Given the description of an element on the screen output the (x, y) to click on. 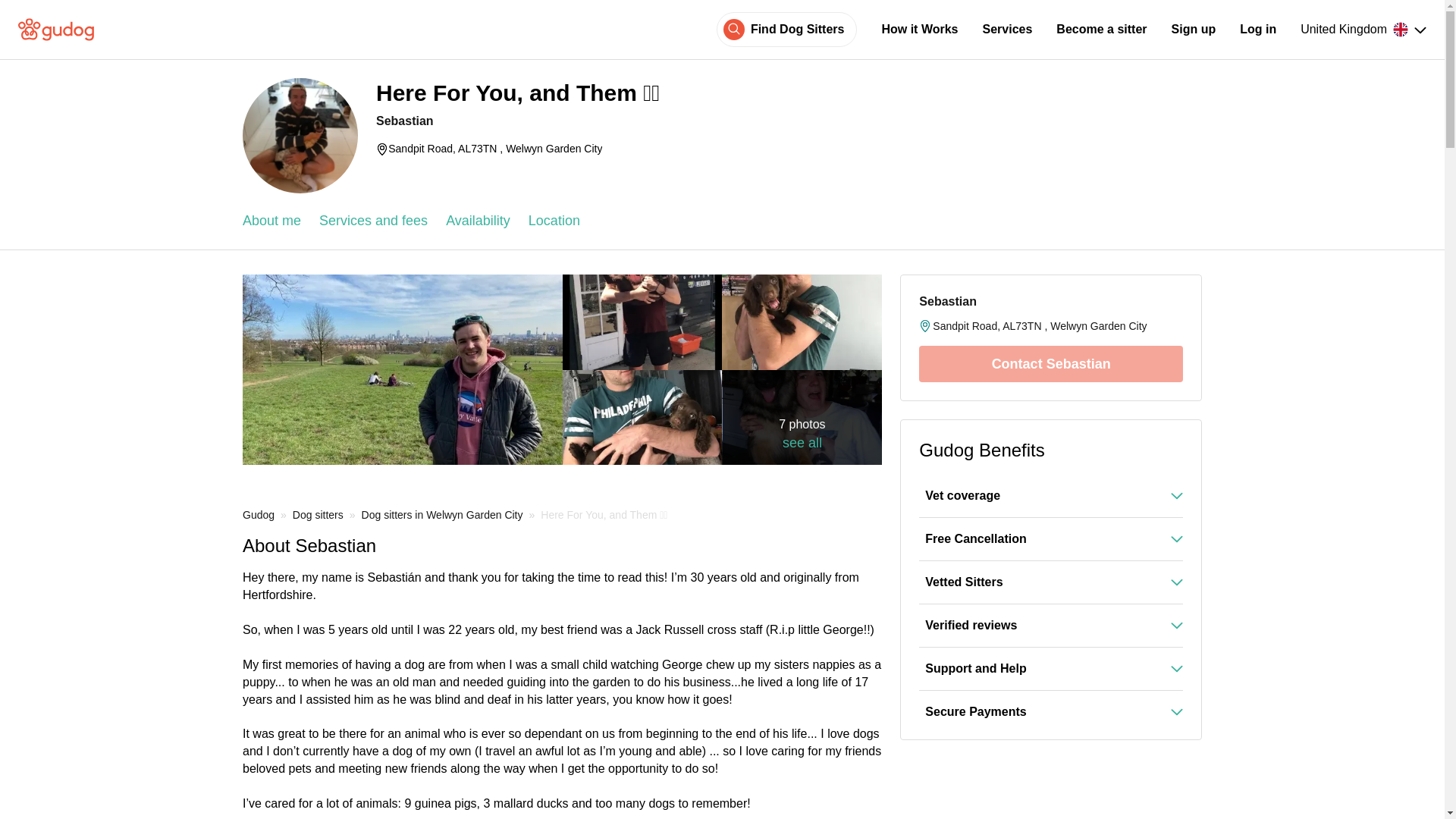
How it Works (919, 29)
Log in (1258, 29)
Availability (478, 220)
Sign up (1193, 29)
Location (553, 220)
Become a sitter (1102, 29)
Services (1007, 29)
Contact Sebastian (1050, 363)
Find Dog Sitters (797, 29)
Services and fees (373, 220)
Dog sitters (317, 514)
Gudog (259, 514)
About me (272, 220)
Dog sitters in Welwyn Garden City (441, 514)
